Given the description of an element on the screen output the (x, y) to click on. 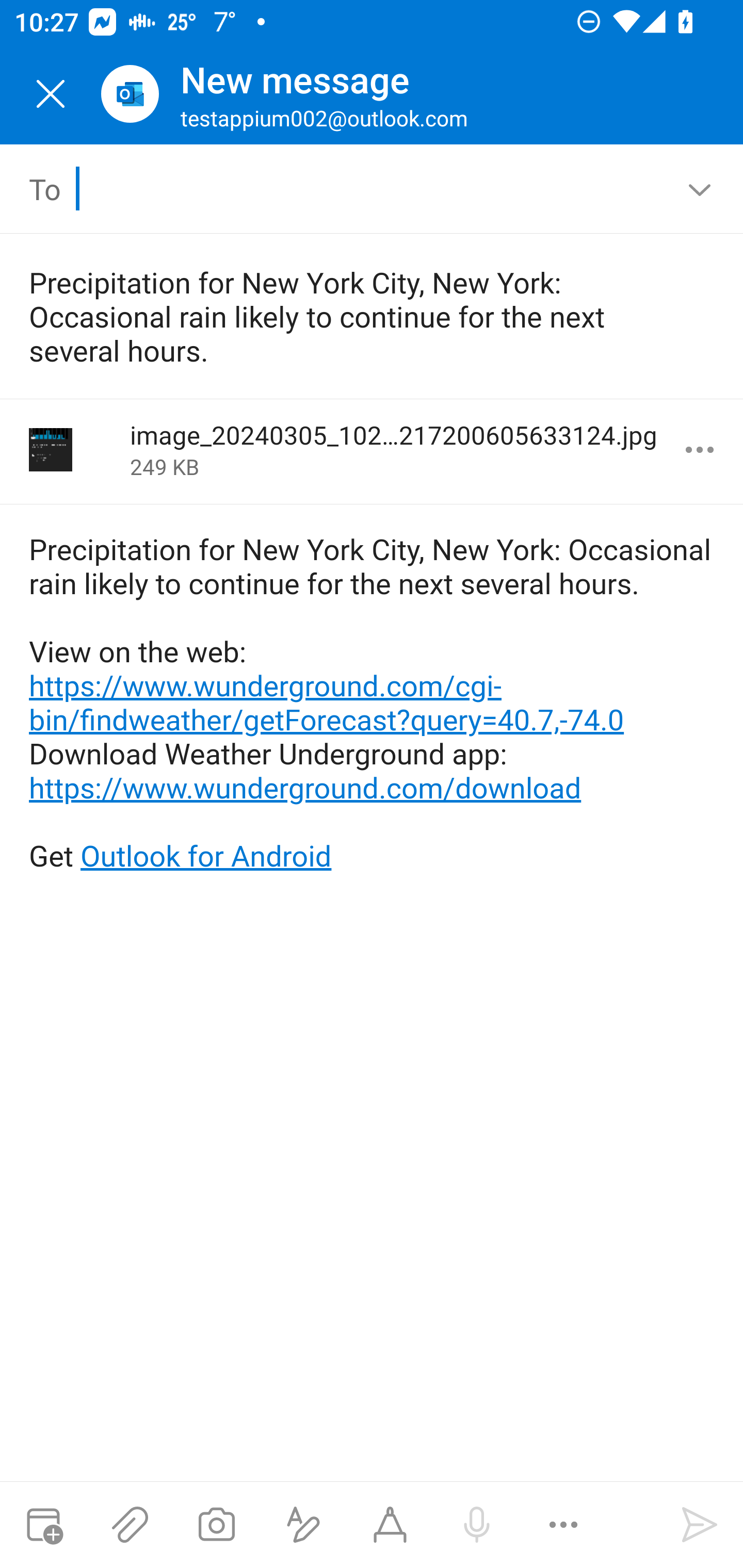
Close (50, 93)
More options (699, 449)
Attach meeting (43, 1524)
Attach files (129, 1524)
Take a photo (216, 1524)
Show formatting options (303, 1524)
Start Ink compose (389, 1524)
More options (563, 1524)
Send (699, 1524)
